Given the description of an element on the screen output the (x, y) to click on. 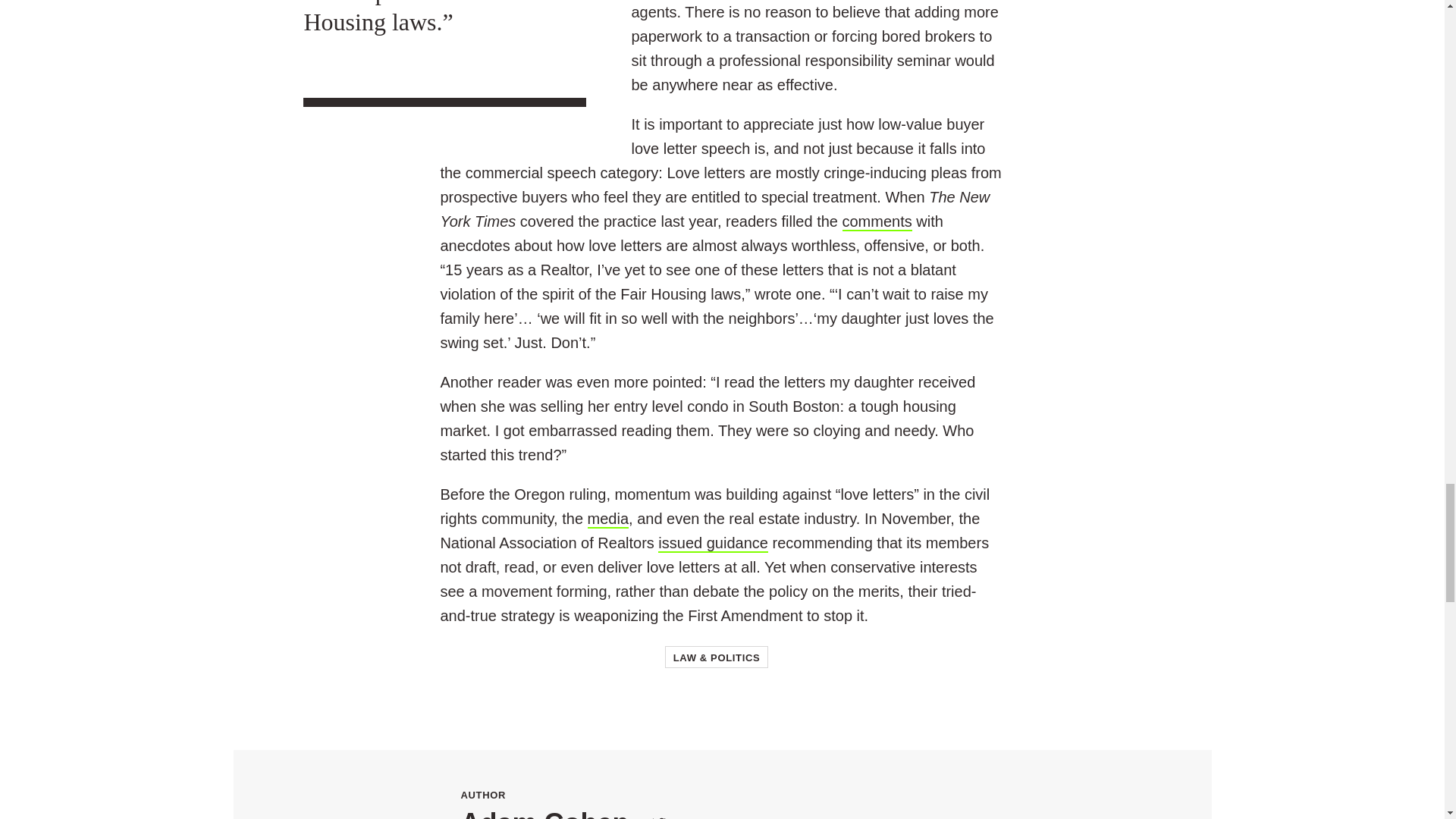
comments (876, 221)
